Given the description of an element on the screen output the (x, y) to click on. 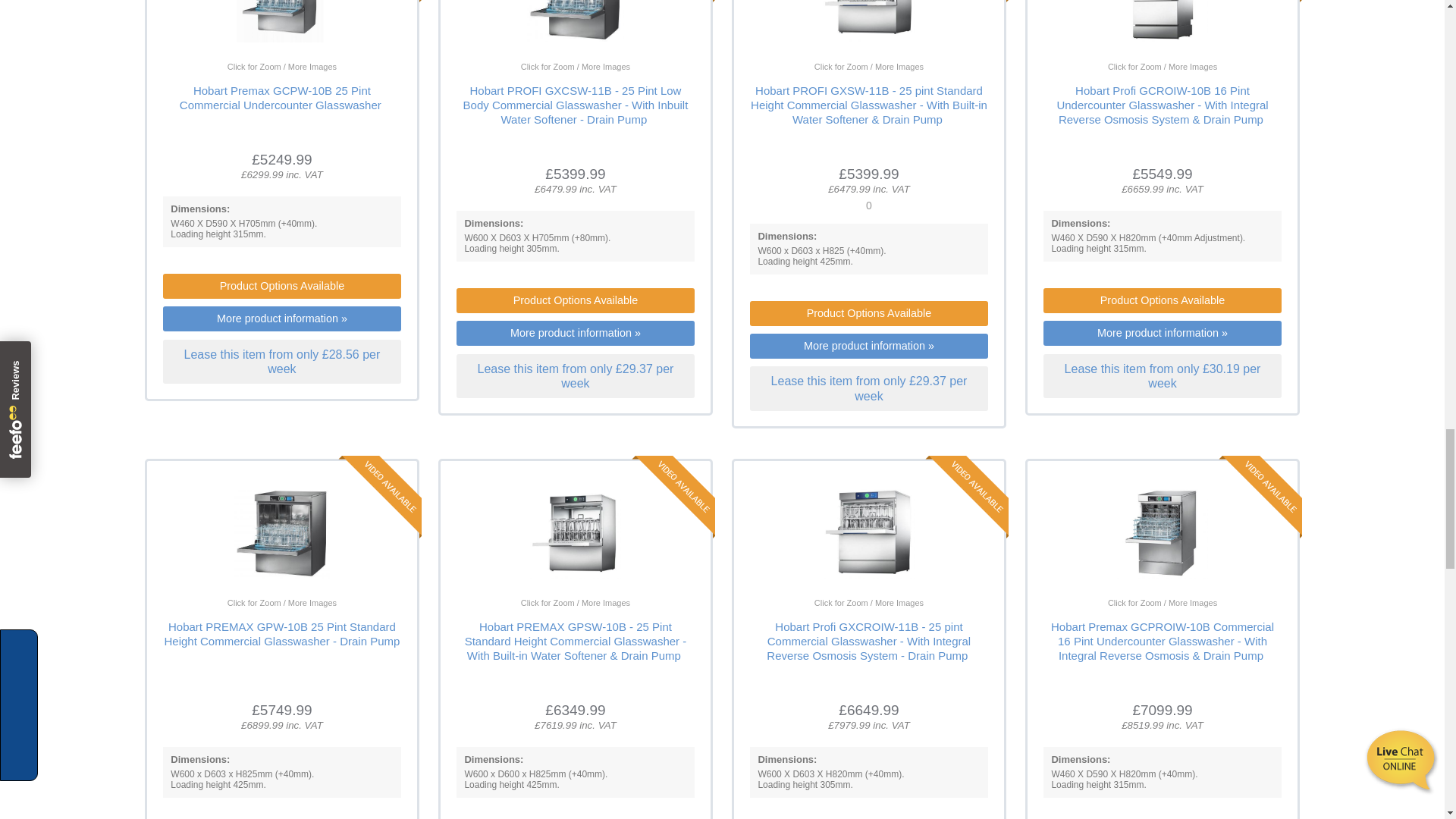
Click for more product information (1130, 57)
Click for more information (575, 105)
Click for more product information (543, 57)
Click for more information (1162, 105)
Click for more information (280, 97)
Click for more information (869, 105)
Click for more product information (250, 57)
Click for more product information (836, 57)
